Given the description of an element on the screen output the (x, y) to click on. 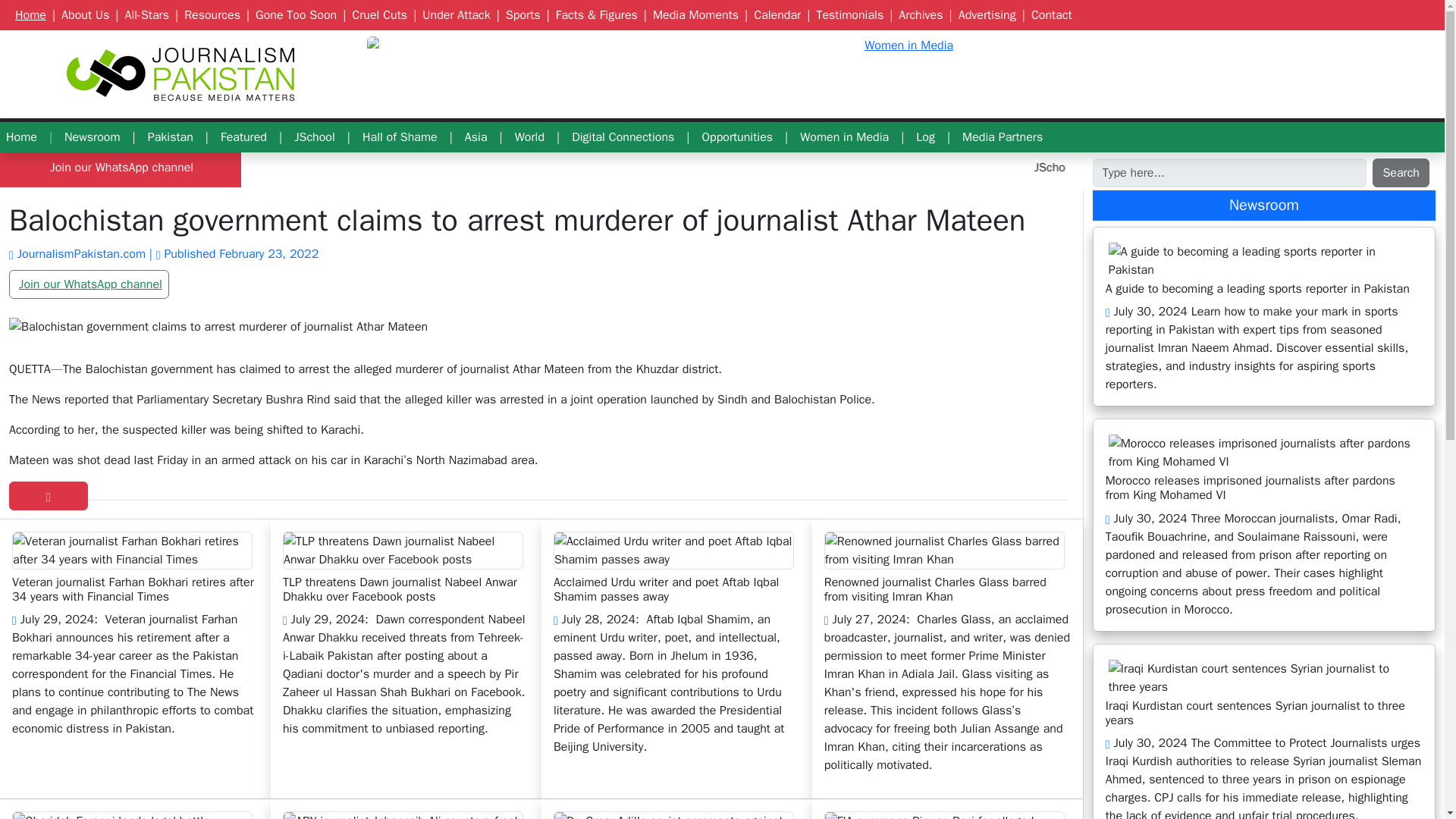
Women in Media (902, 45)
Cruel Cuts (376, 14)
Gone Too Soon (292, 14)
Featured (243, 137)
Media Moments (692, 14)
Home (21, 137)
Testimonials (846, 14)
Sports (519, 14)
About Us (82, 14)
Home (27, 14)
Under Attack (452, 14)
Resources (208, 14)
